Given the description of an element on the screen output the (x, y) to click on. 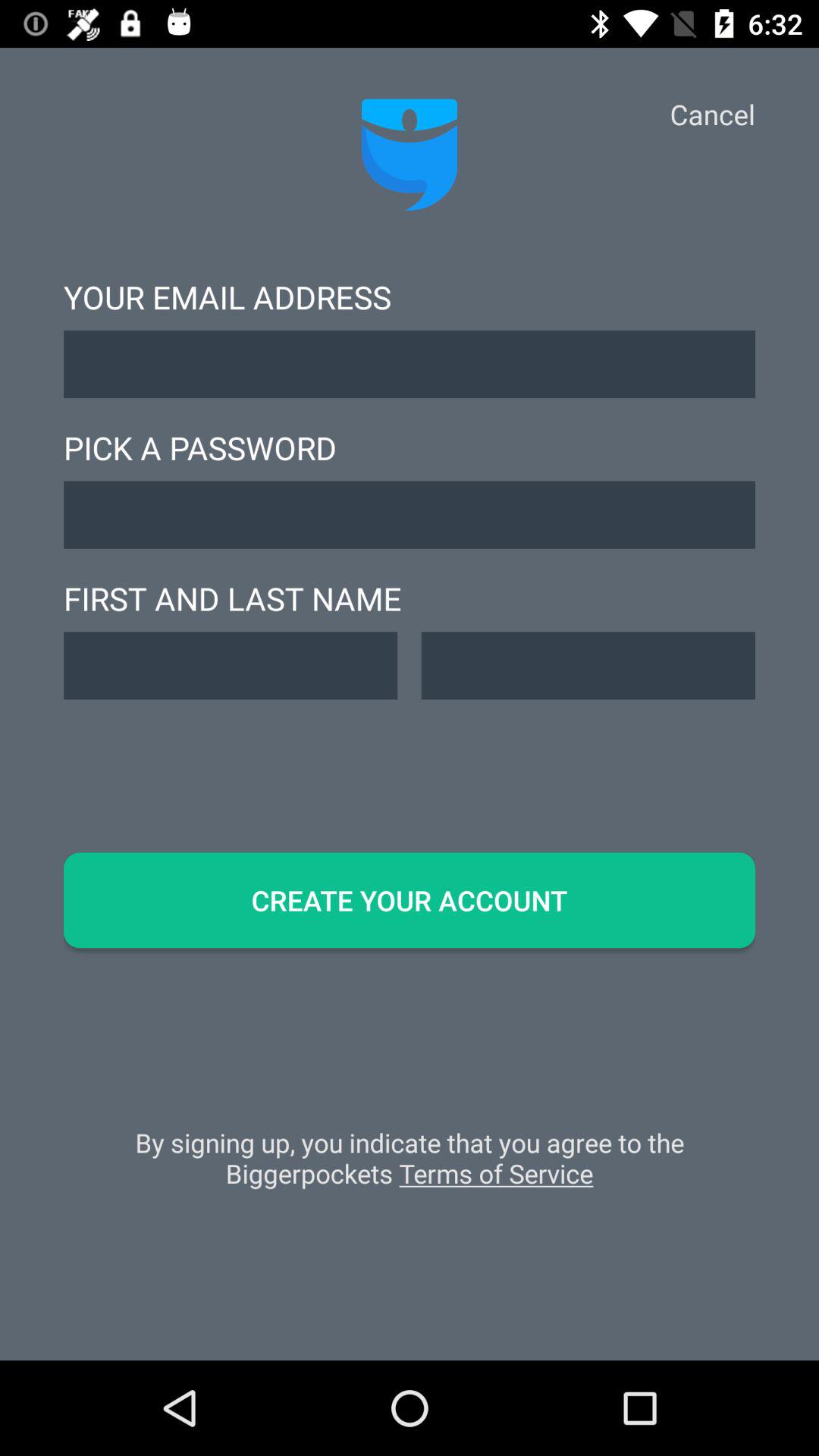
jump until the cancel app (712, 114)
